Given the description of an element on the screen output the (x, y) to click on. 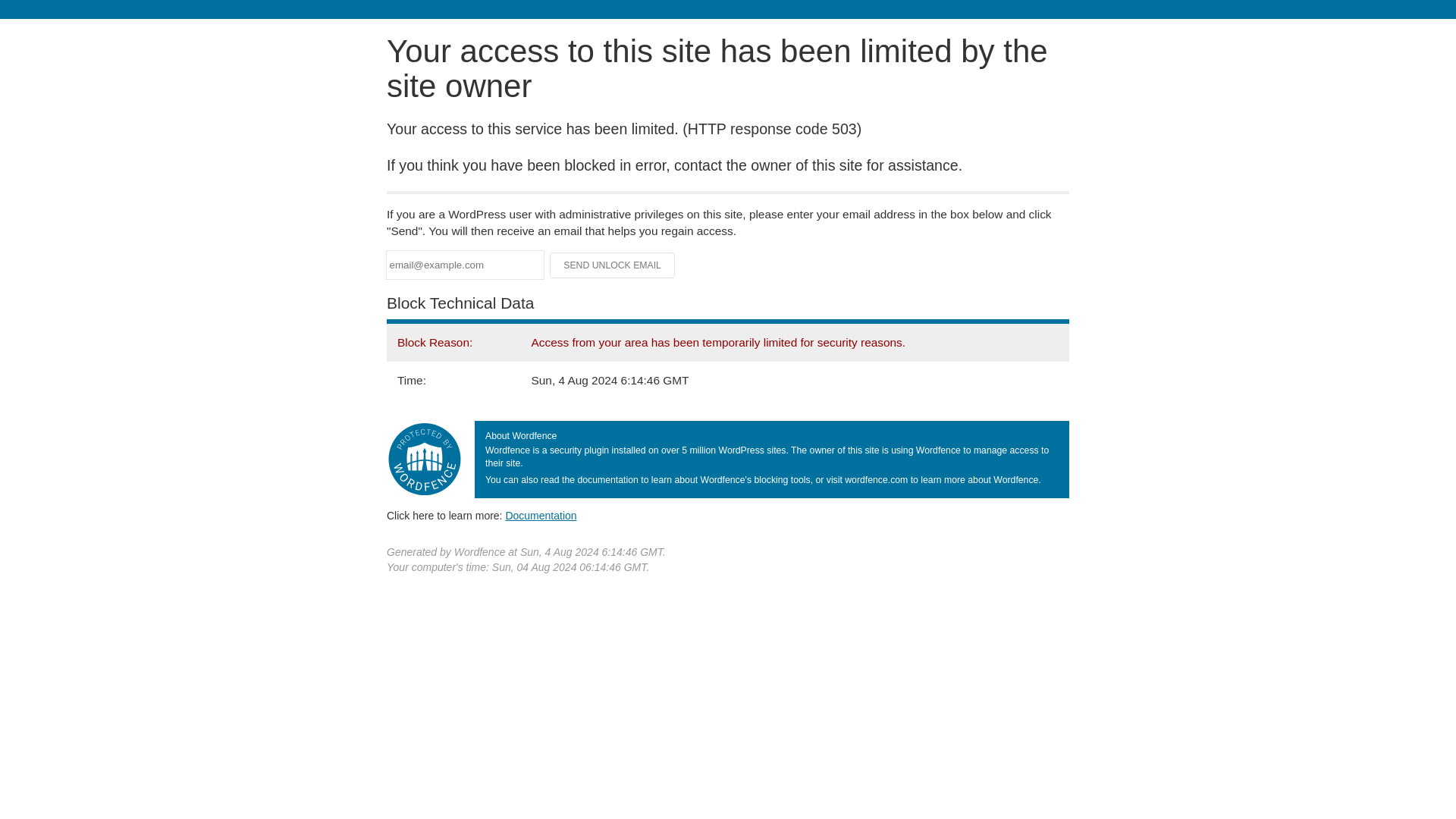
Send Unlock Email (612, 265)
Send Unlock Email (612, 265)
Documentation (540, 515)
